Given the description of an element on the screen output the (x, y) to click on. 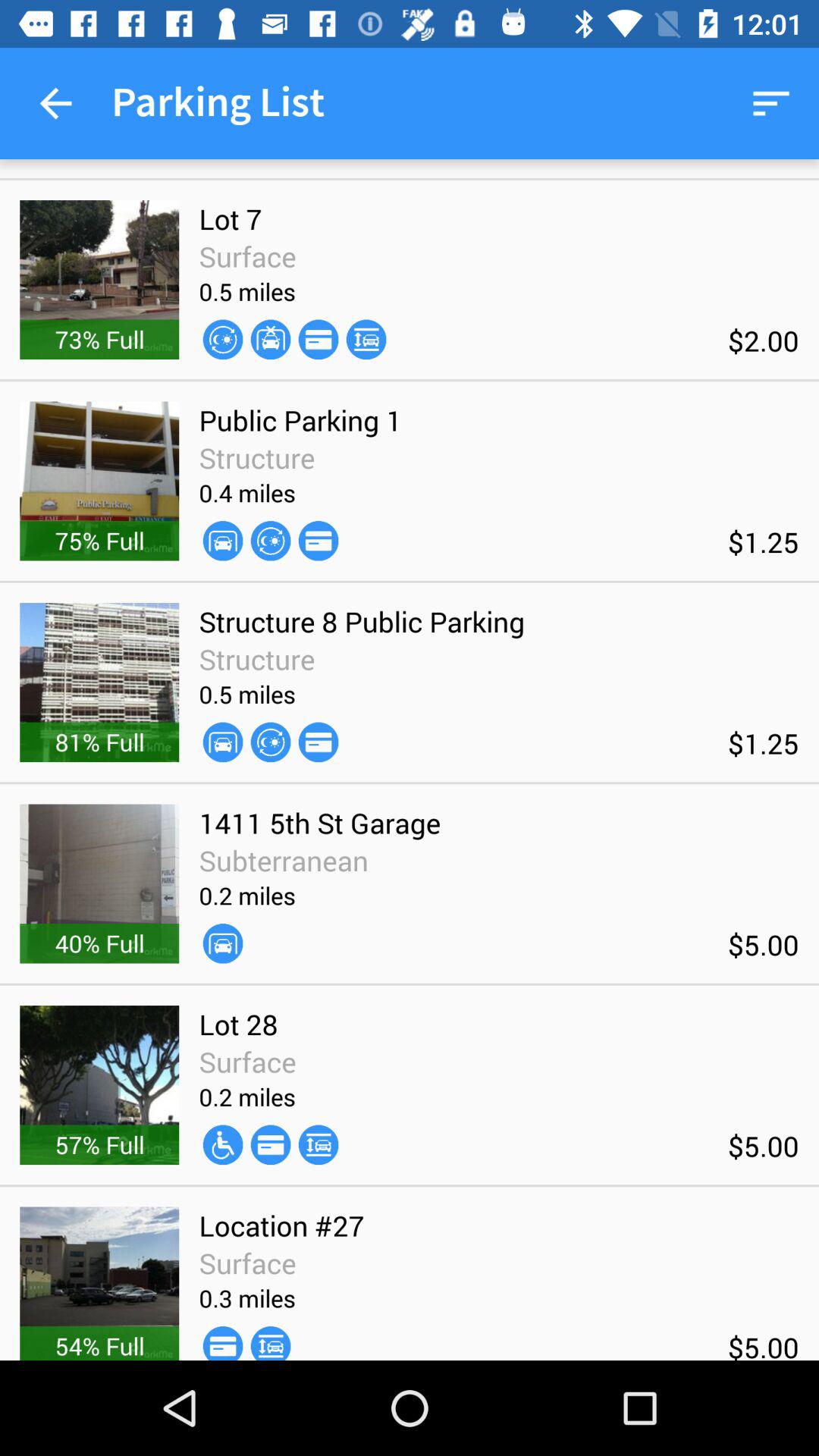
launch the item below the 0.4 miles item (270, 540)
